Given the description of an element on the screen output the (x, y) to click on. 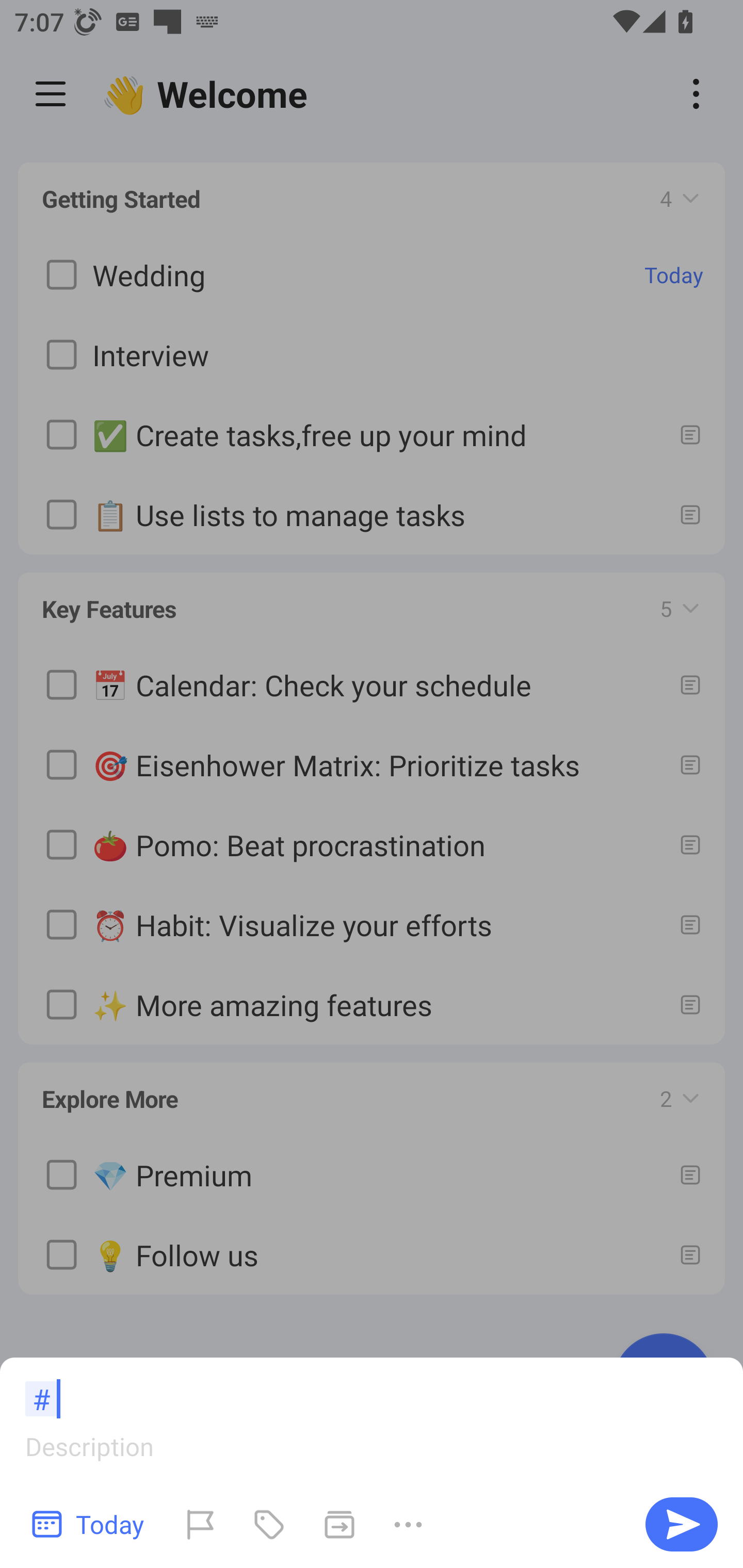
# Description Today (371, 1462)
Today (88, 1523)
